Given the description of an element on the screen output the (x, y) to click on. 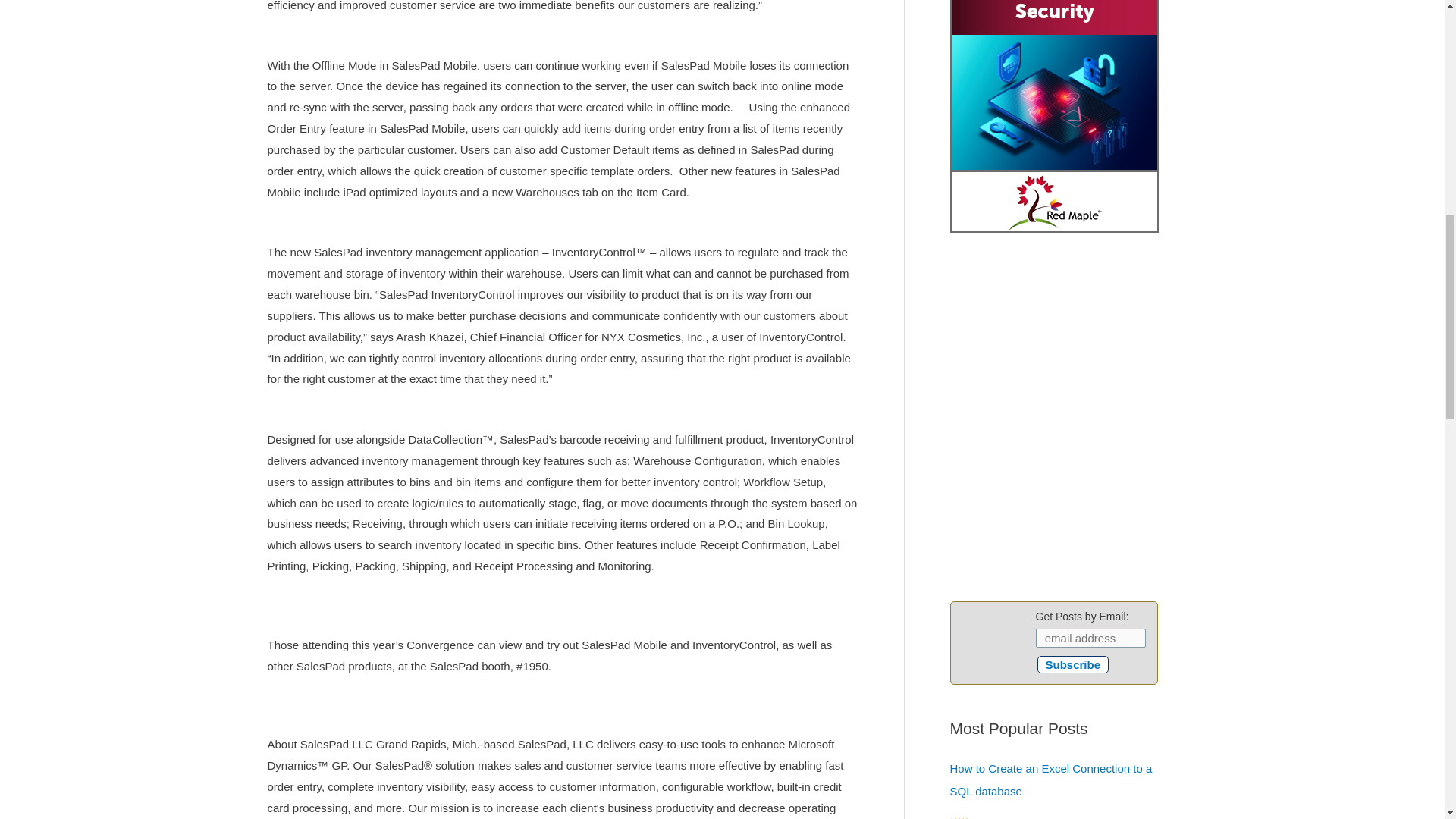
Subscribe (1072, 664)
